Given the description of an element on the screen output the (x, y) to click on. 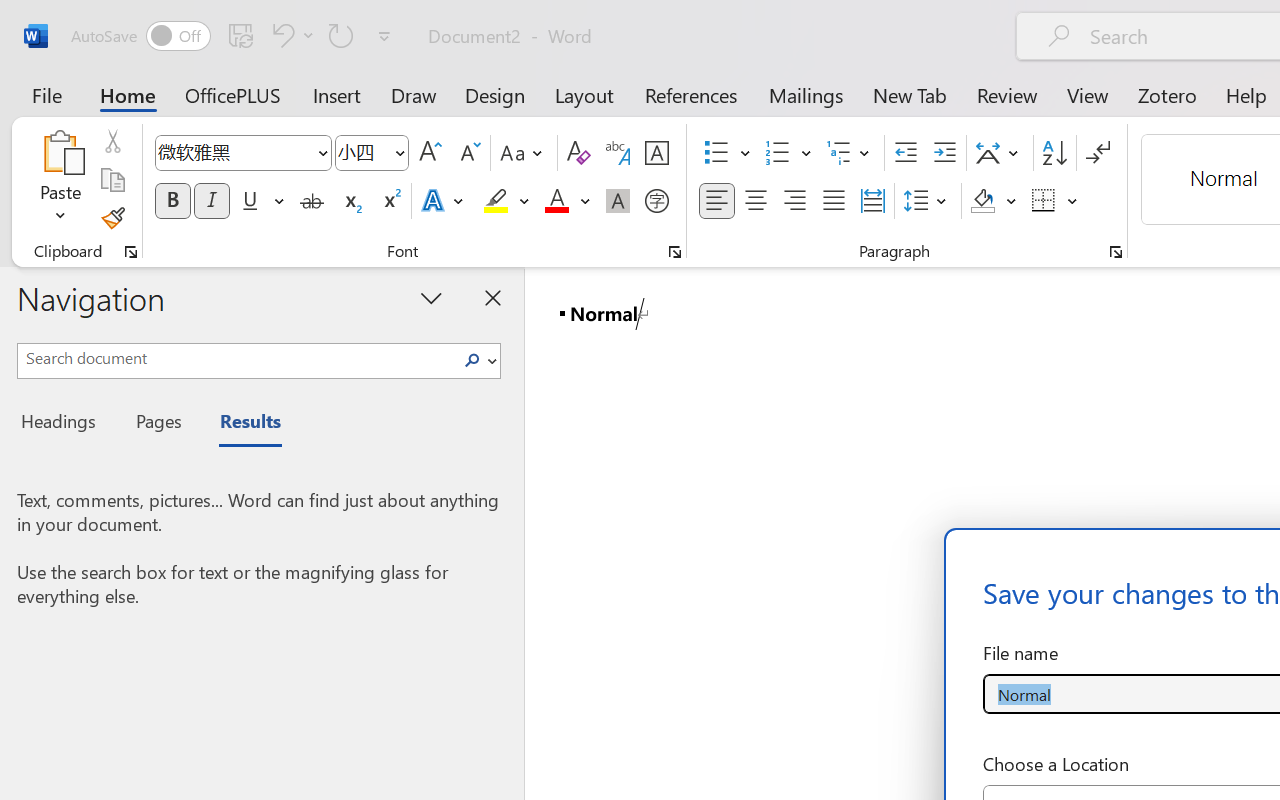
Underline (261, 201)
Search (478, 360)
Superscript (390, 201)
Character Border (656, 153)
Center (756, 201)
Task Pane Options (431, 297)
Insert (337, 94)
Review (1007, 94)
Font Size (362, 152)
Align Right (794, 201)
